Given the description of an element on the screen output the (x, y) to click on. 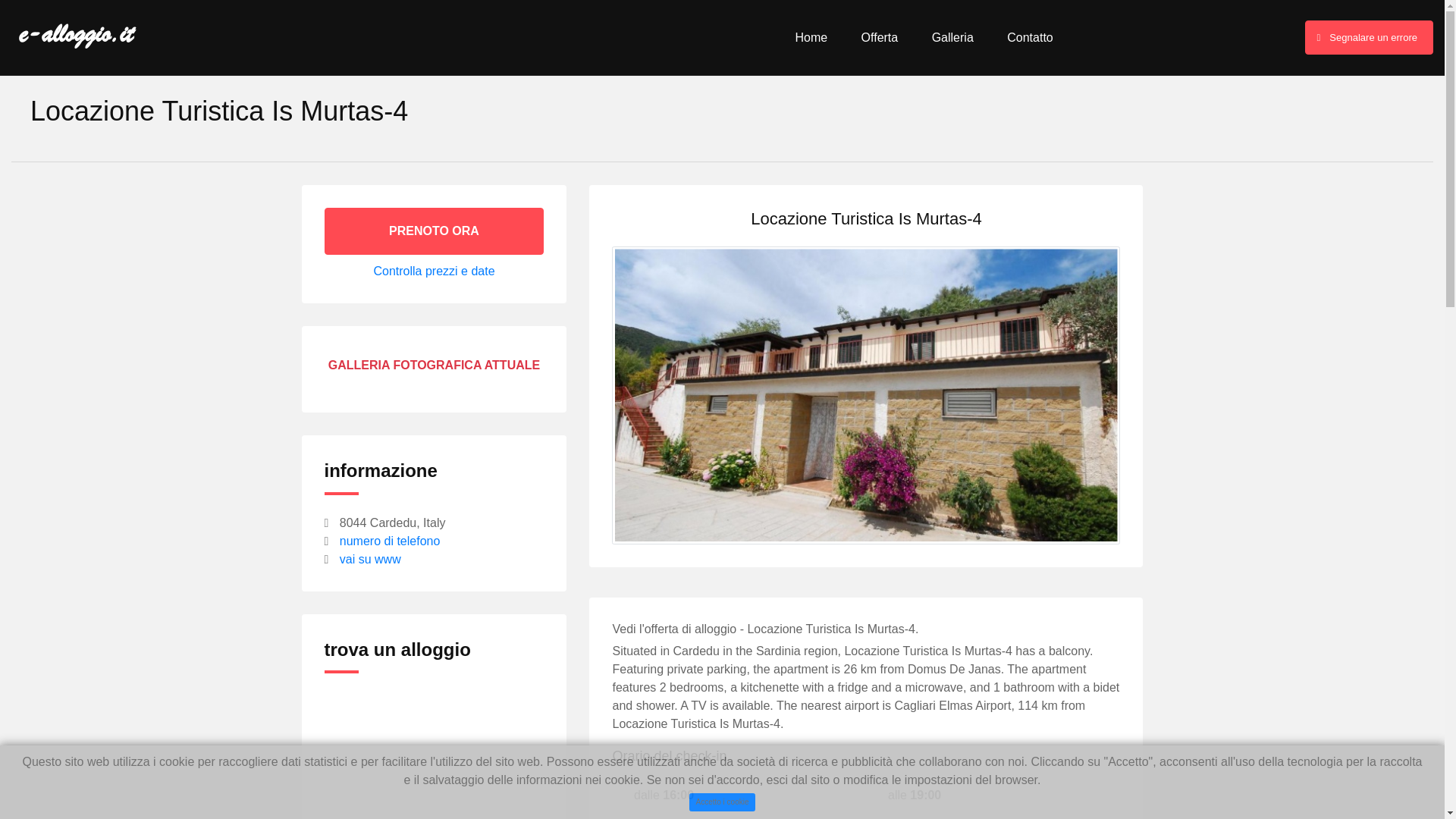
Controlla prezzi e date (433, 270)
PRENOTO ORA (434, 231)
Contatto (1029, 37)
Accetto i cookie (721, 802)
vai su www (370, 558)
Segnalare un errore (1368, 37)
numero di telefono (390, 540)
GALLERIA FOTOGRAFICA ATTUALE (434, 364)
